Given the description of an element on the screen output the (x, y) to click on. 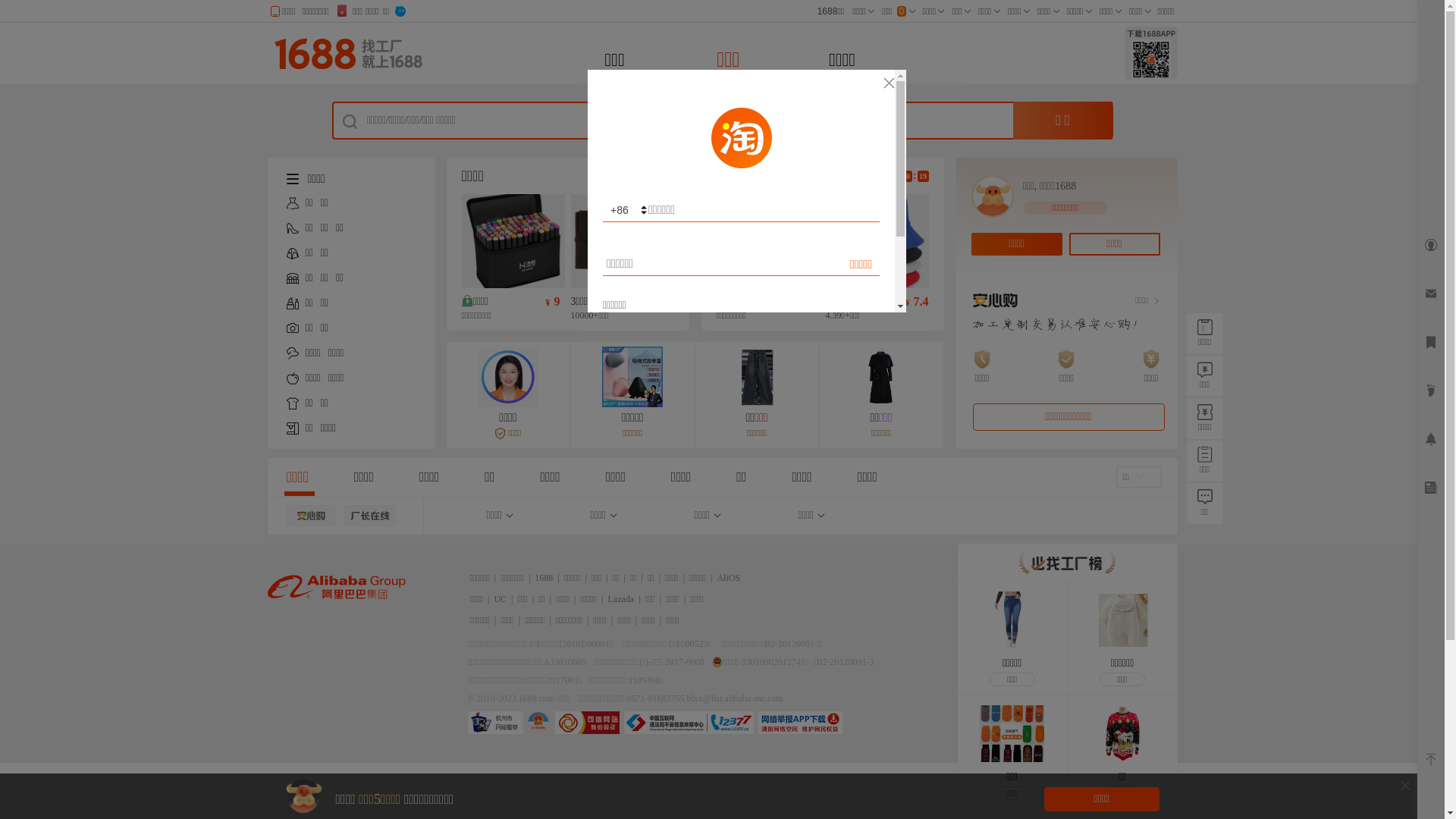
UC Element type: text (499, 598)
1688 Element type: text (543, 577)
Lazada Element type: text (621, 598)
AliOS Element type: text (728, 577)
